Given the description of an element on the screen output the (x, y) to click on. 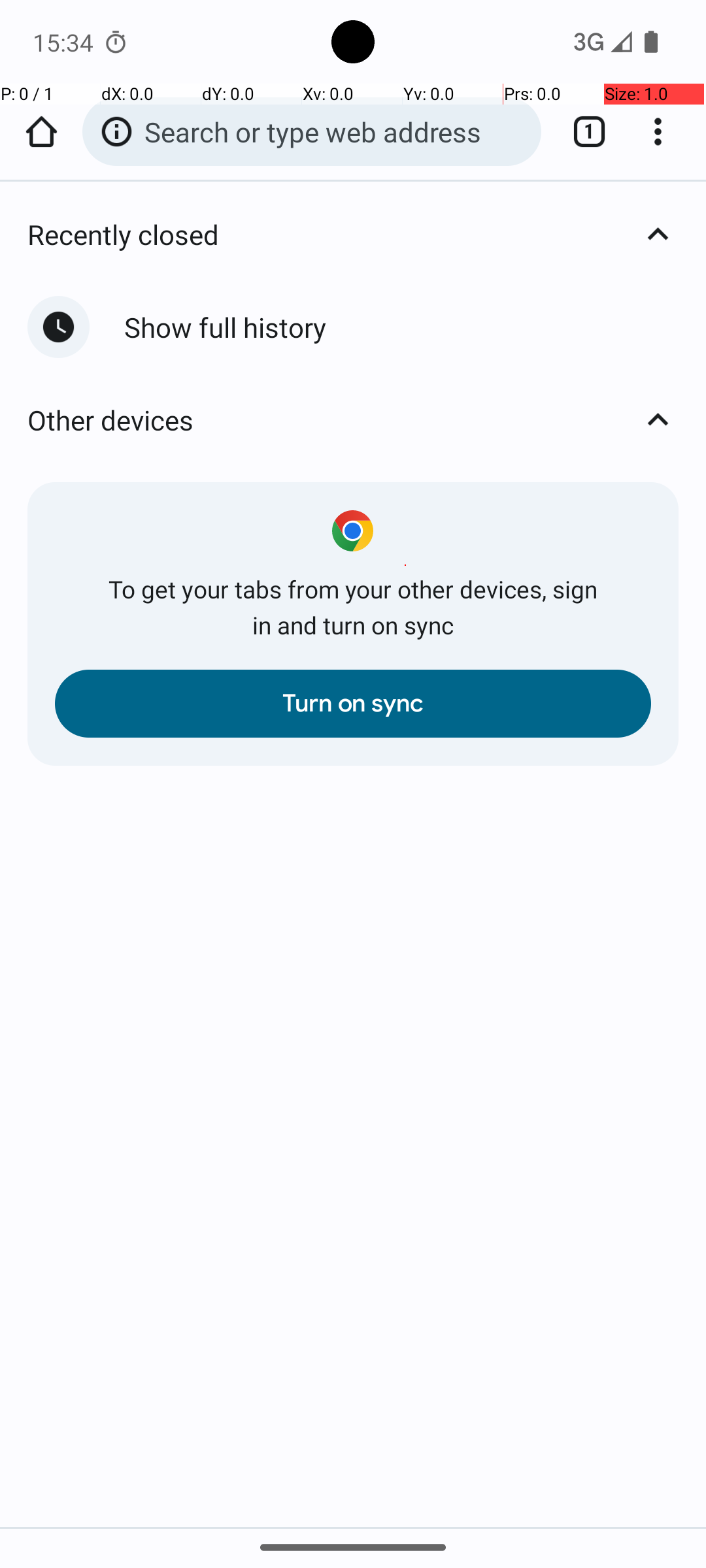
Recently closed Element type: android.widget.TextView (366, 233)
Tap to collapse Element type: android.widget.ImageView (657, 233)
Show full history Element type: android.widget.TextView (401, 326)
Other devices Element type: android.widget.TextView (366, 419)
To get your tabs from your other devices, sign in and turn on sync Element type: android.widget.TextView (352, 606)
Turn on sync Element type: android.widget.Button (352, 703)
